Given the description of an element on the screen output the (x, y) to click on. 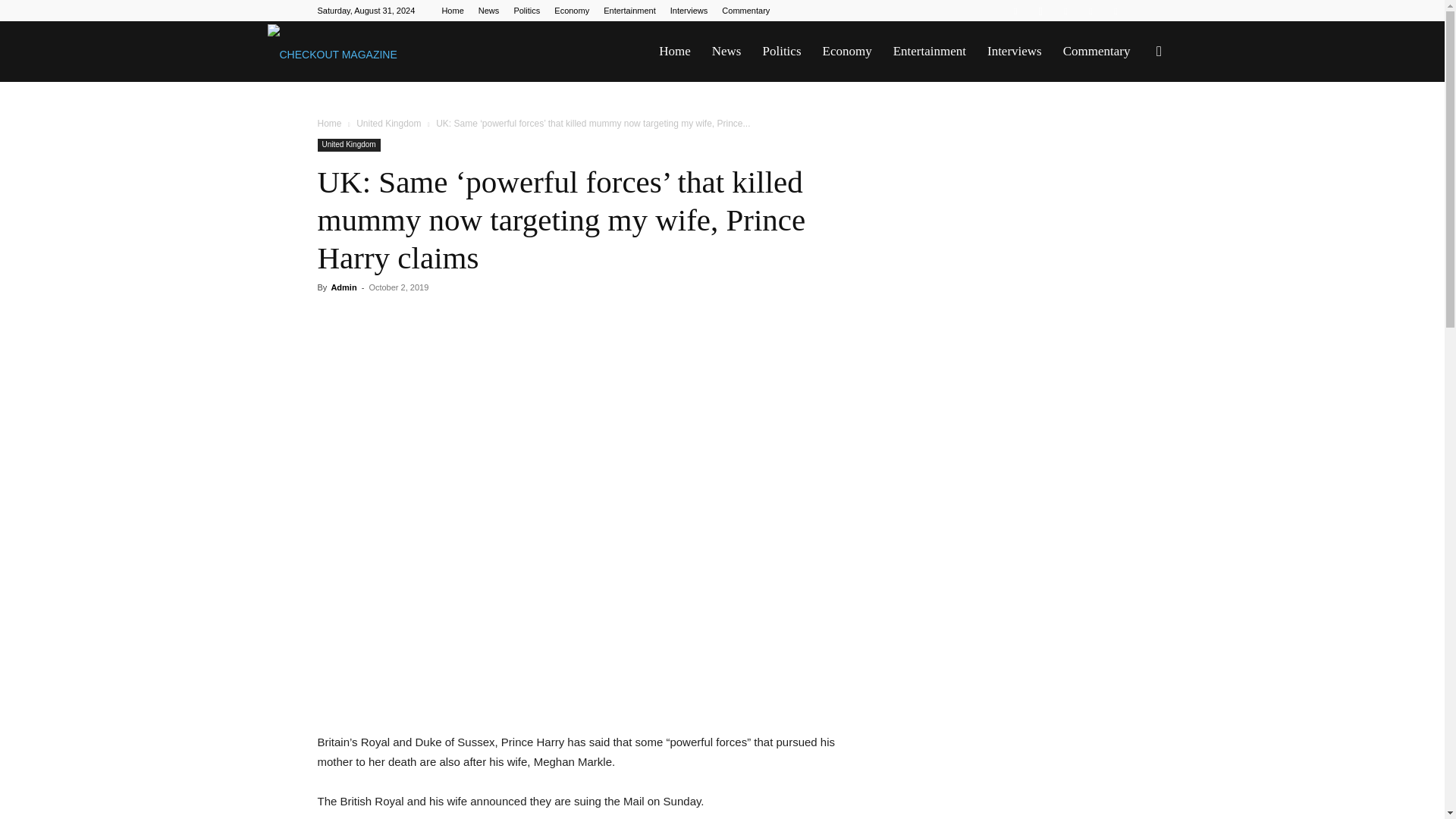
Economy (571, 10)
View all posts in United Kingdom (388, 122)
Home (328, 122)
Politics (526, 10)
Commentary (746, 10)
Checkout Magazine (331, 51)
Youtube (1114, 10)
Interviews (1014, 51)
Instagram (1040, 10)
CHECKOUT MAGAZINE (331, 52)
